Given the description of an element on the screen output the (x, y) to click on. 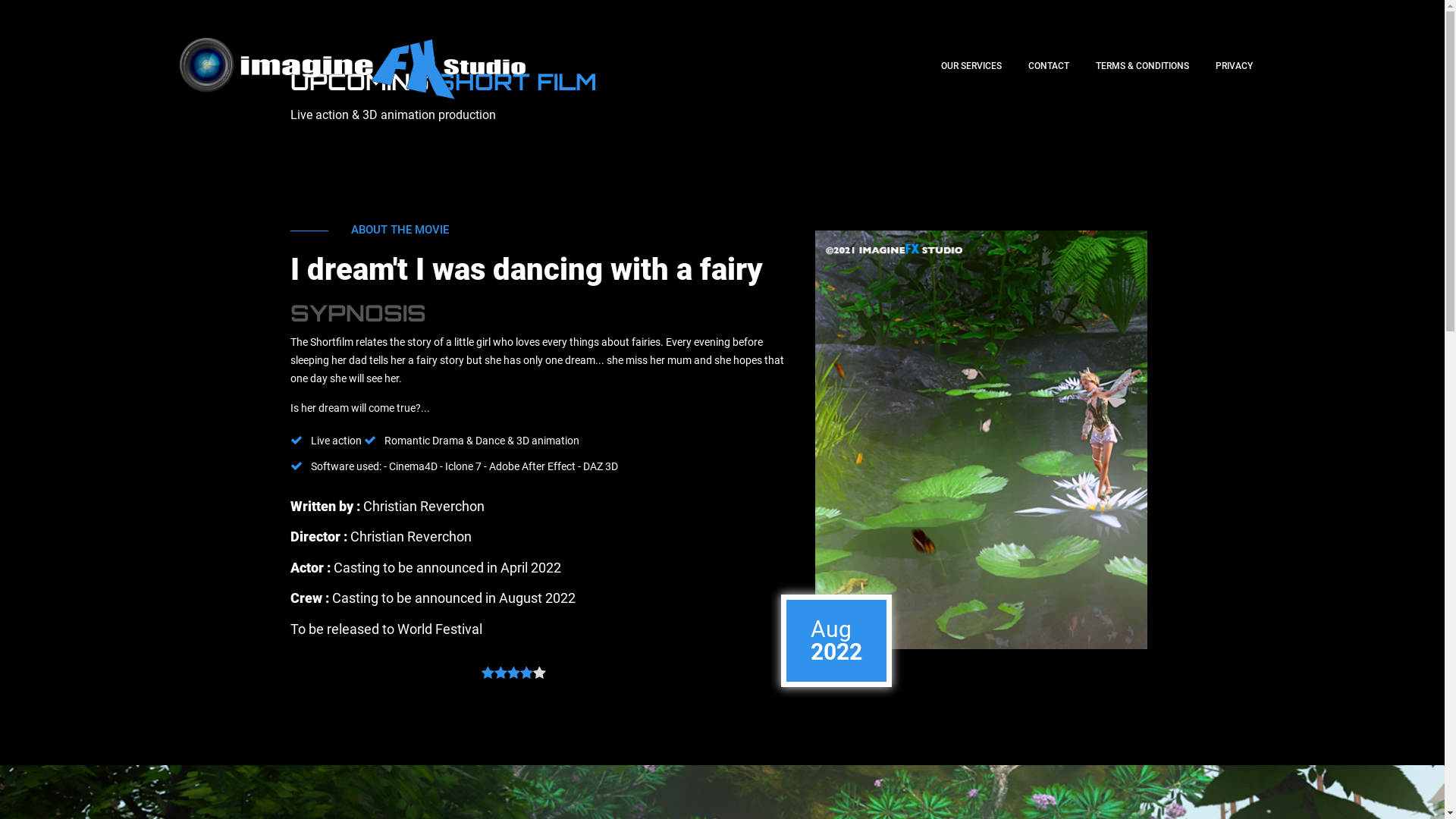
PRIVACY Element type: text (1233, 65)
TERMS & CONDITIONS Element type: text (1142, 65)
CONTACT Element type: text (1048, 65)
OUR SERVICES Element type: text (970, 65)
